Given the description of an element on the screen output the (x, y) to click on. 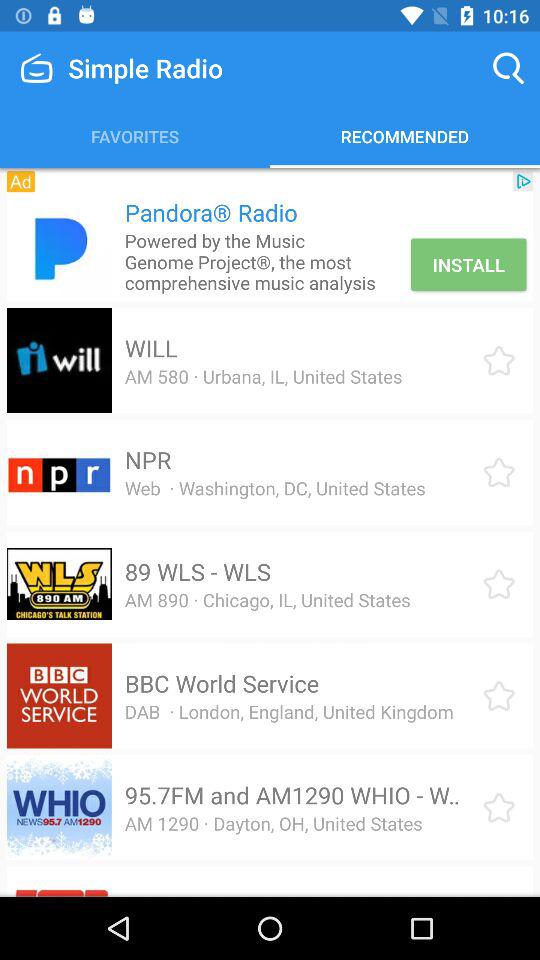
click icon above espn chicago 1000 item (273, 823)
